Given the description of an element on the screen output the (x, y) to click on. 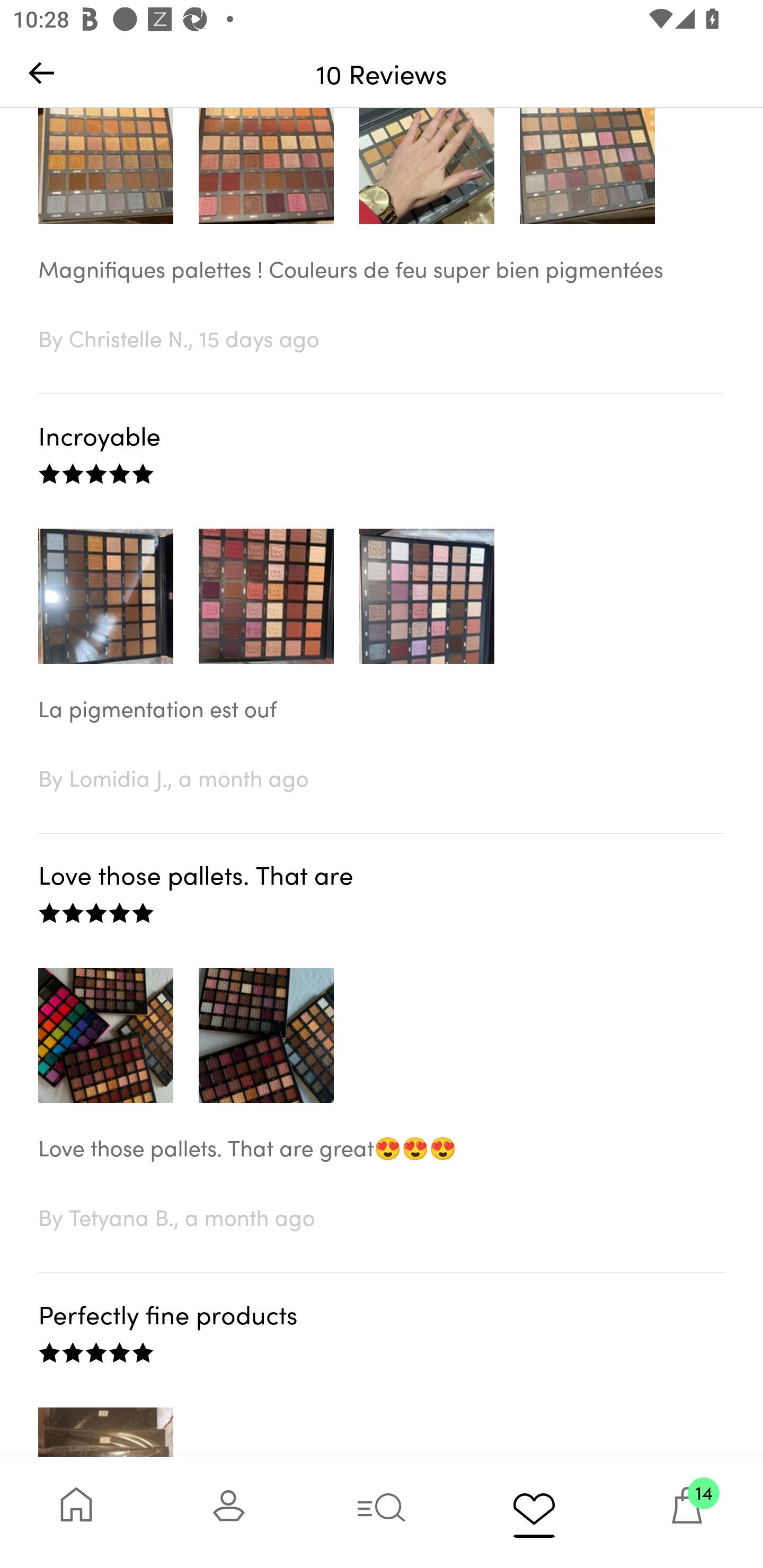
La pigmentation est ouf (381, 727)
Love those pallets. That are great😍😍😍 (381, 1166)
14 (686, 1512)
